Given the description of an element on the screen output the (x, y) to click on. 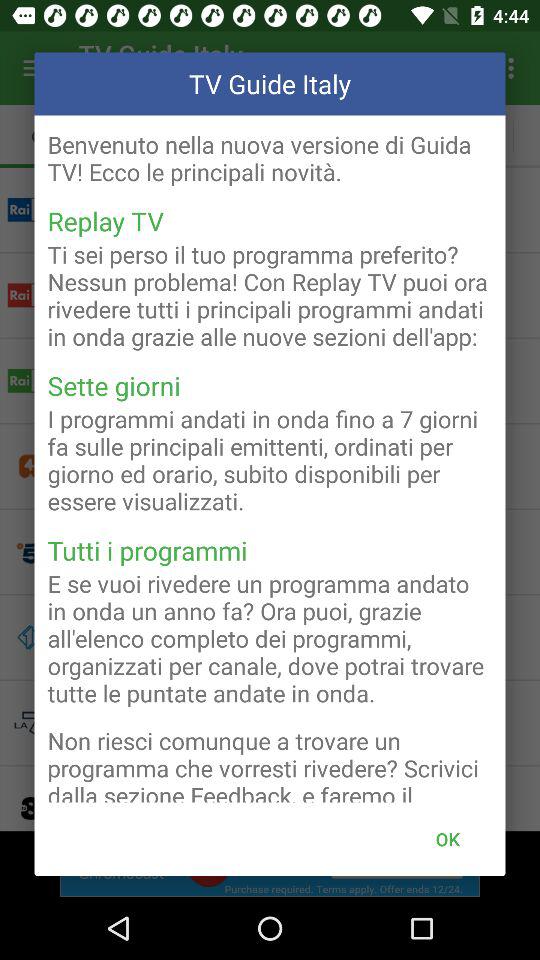
tap icon below the non riesci comunque icon (447, 838)
